Given the description of an element on the screen output the (x, y) to click on. 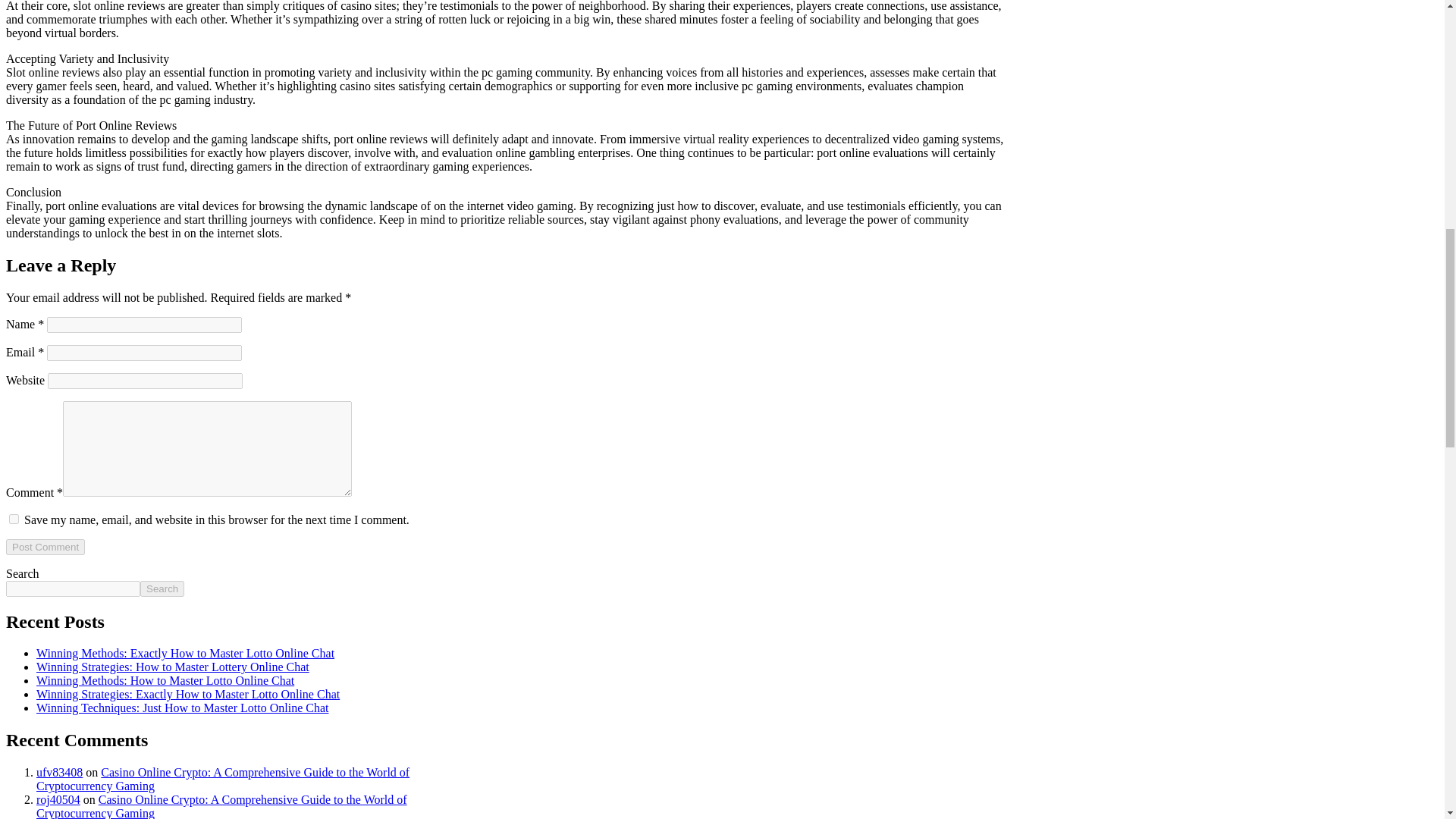
Search (161, 588)
Winning Methods: How to Master Lotto Online Chat (165, 680)
Winning Techniques: Just How to Master Lotto Online Chat (182, 707)
Post Comment (44, 546)
Winning Methods: Exactly How to Master Lotto Online Chat (185, 653)
yes (13, 519)
roj40504 (58, 799)
ufv83408 (59, 771)
Post Comment (44, 546)
Winning Strategies: Exactly How to Master Lotto Online Chat (187, 694)
Winning Strategies: How to Master Lottery Online Chat (172, 666)
